Given the description of an element on the screen output the (x, y) to click on. 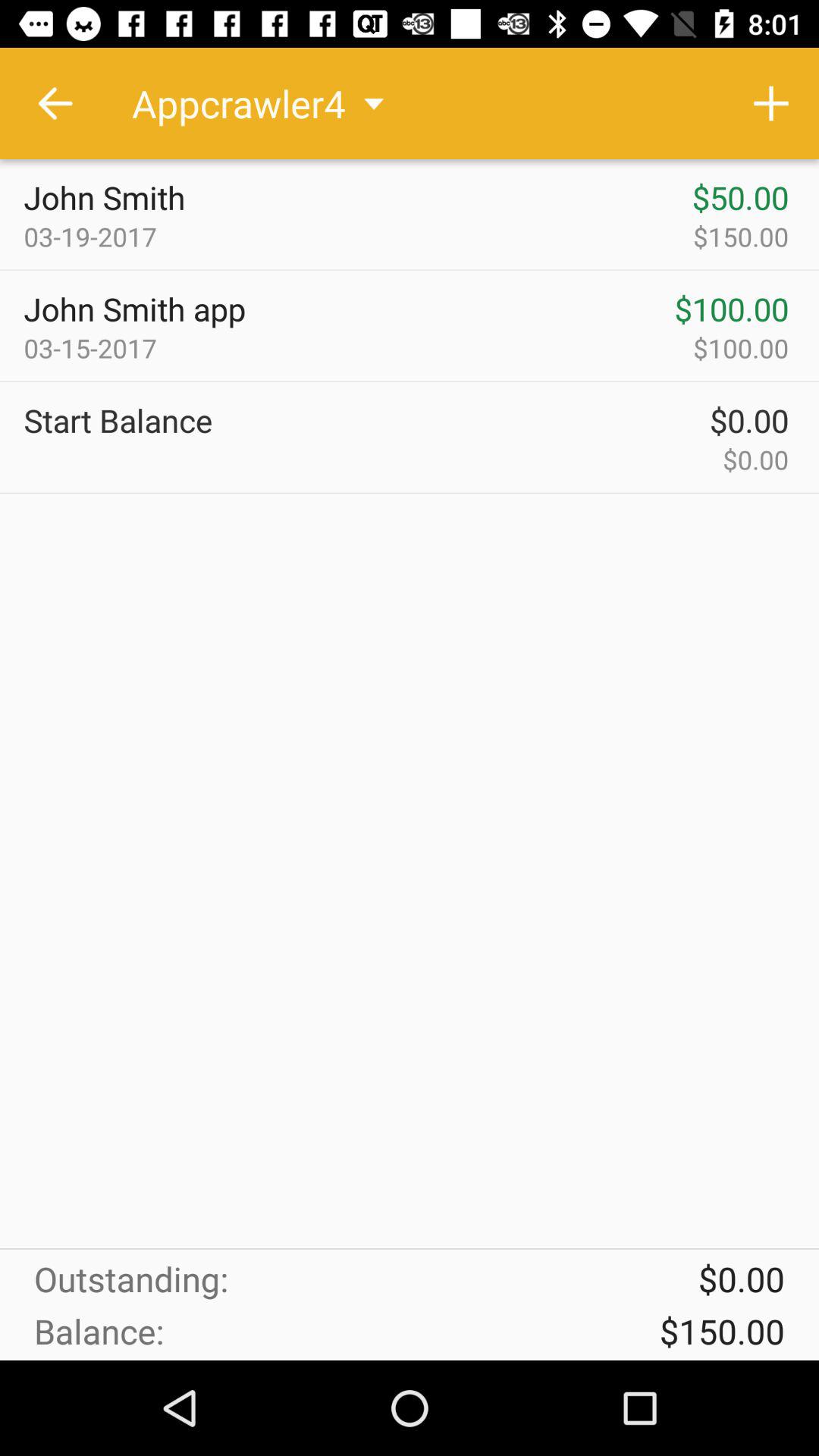
turn on app above $50.00 app (771, 103)
